Given the description of an element on the screen output the (x, y) to click on. 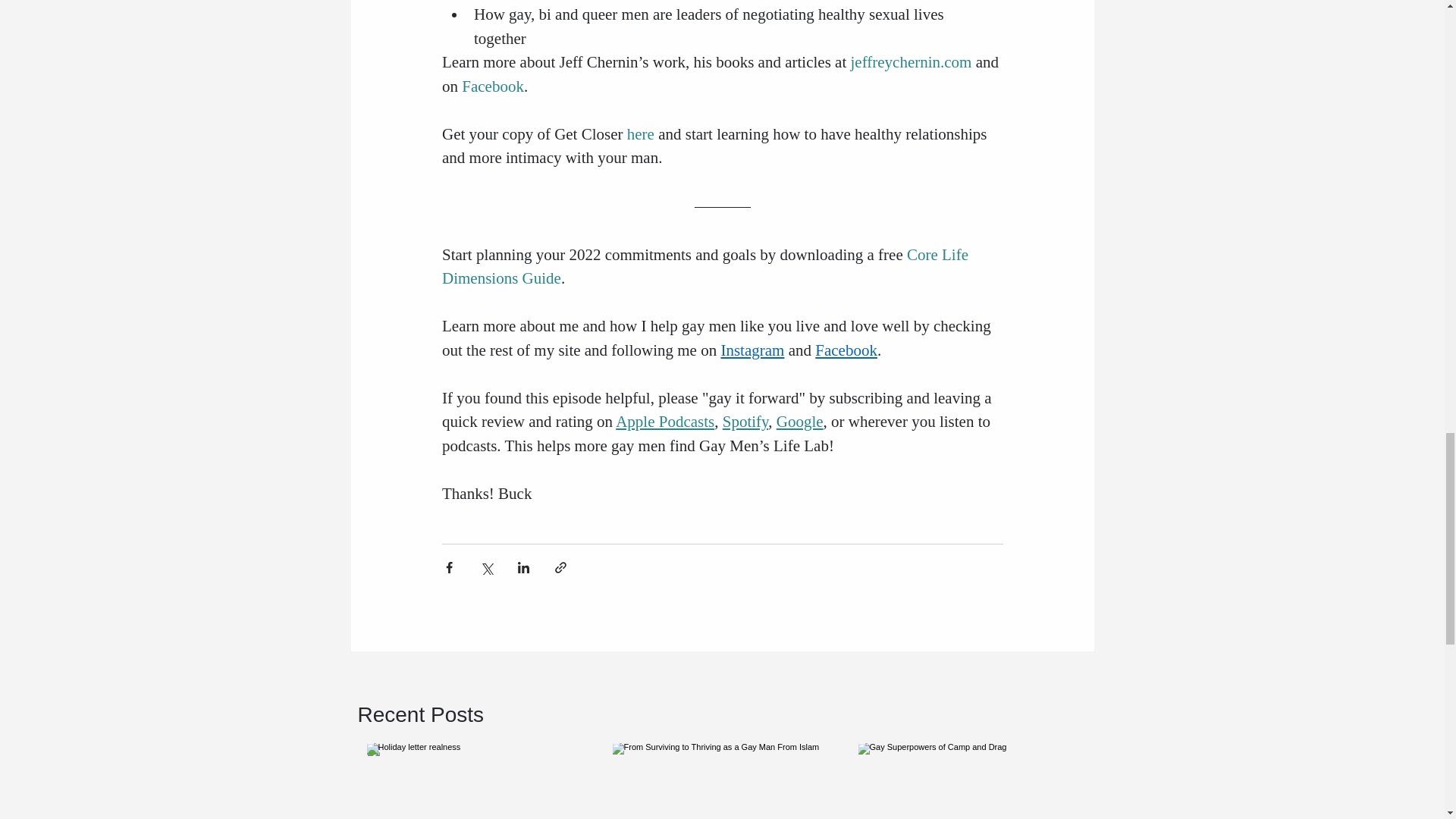
Core Life Dimensions Guide (706, 266)
here (639, 134)
Spotify (744, 421)
Facebook (492, 85)
Apple Podcasts (664, 421)
 jeffreychernin.com (908, 62)
Facebook (846, 350)
Instagram (752, 350)
Google (799, 421)
